Given the description of an element on the screen output the (x, y) to click on. 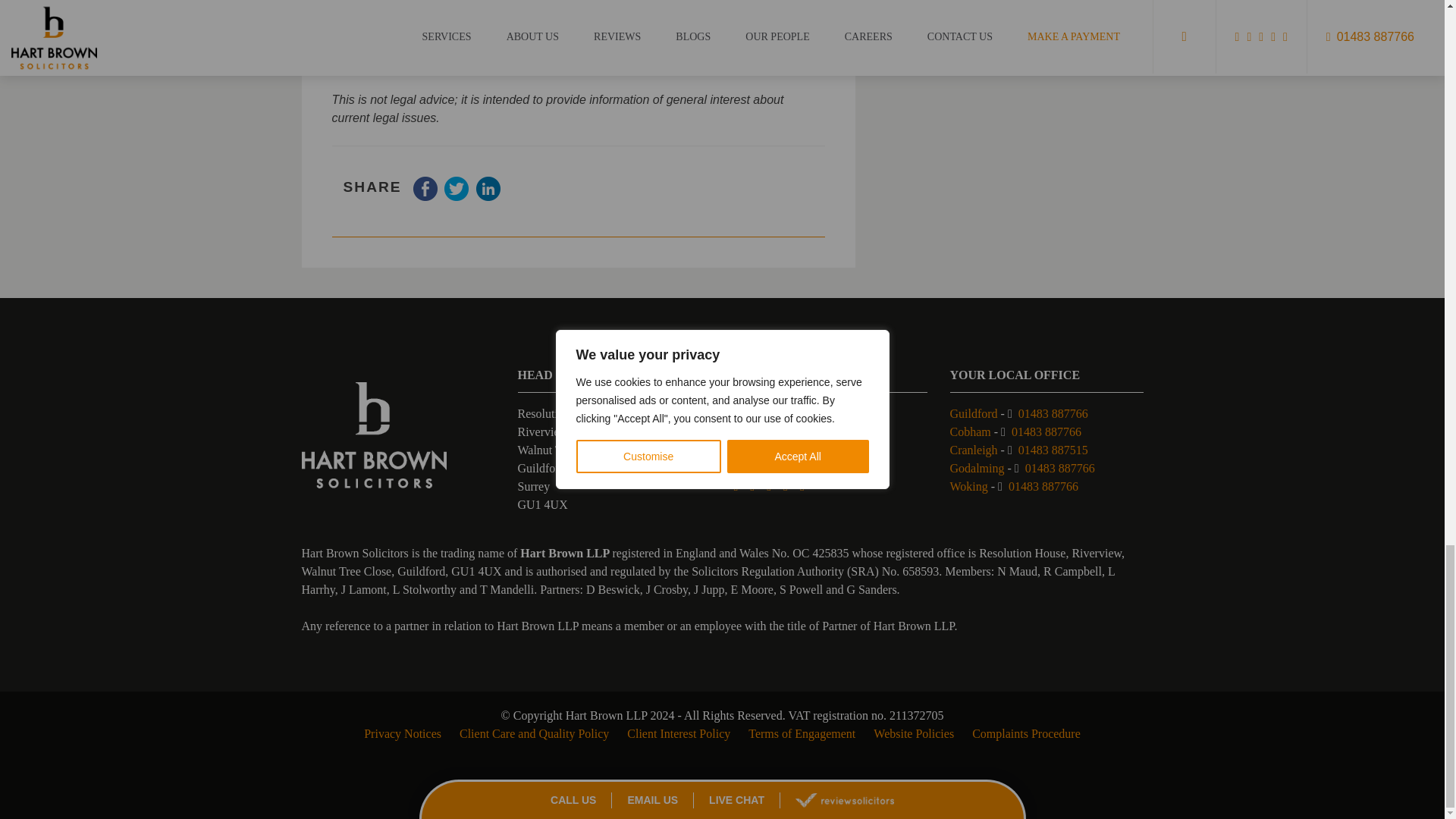
Tweet (456, 196)
Hart Brown (373, 434)
Share on LinkedIn (488, 196)
Share on Facebook (425, 196)
